Given the description of an element on the screen output the (x, y) to click on. 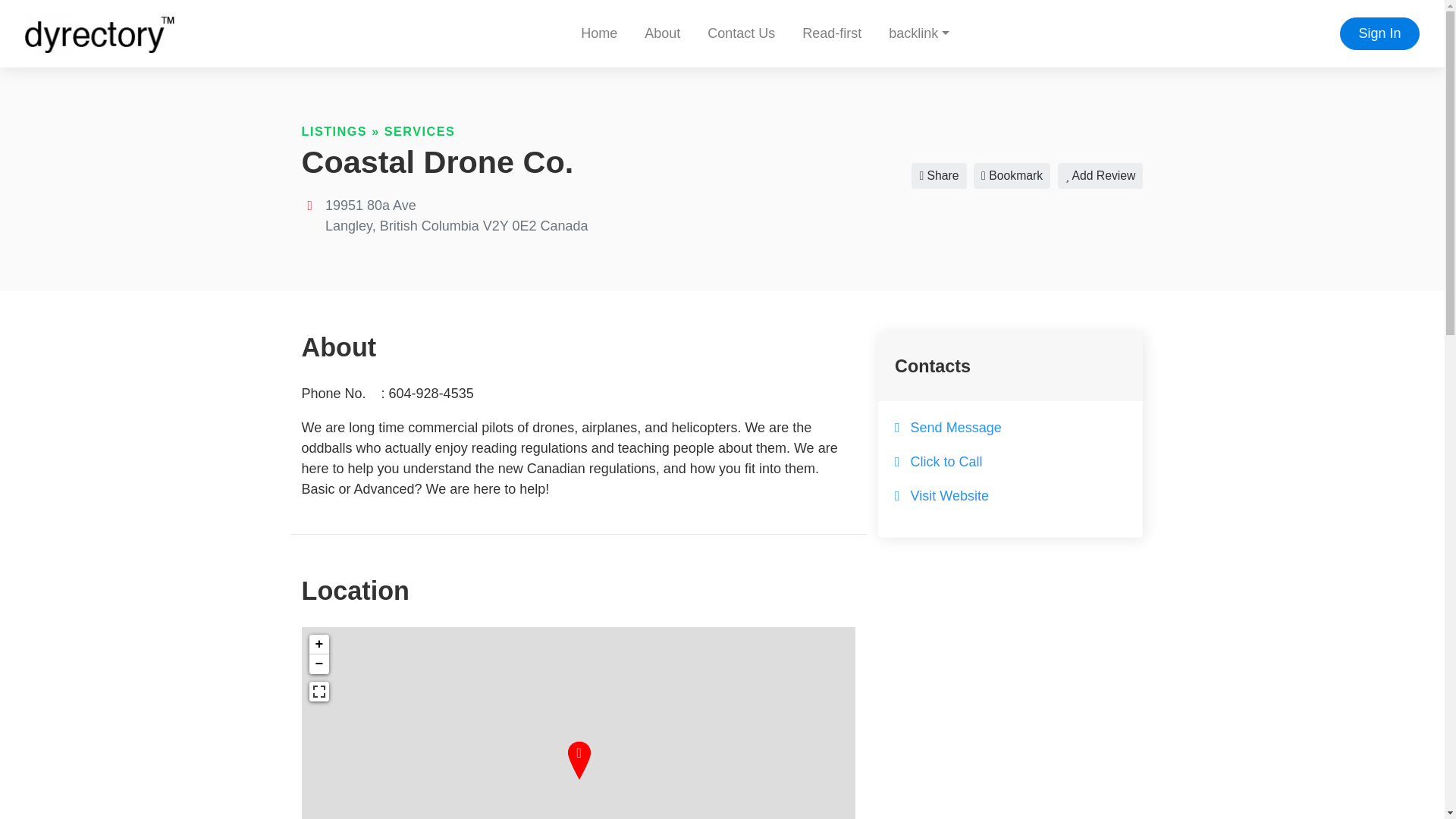
Sign In (1379, 33)
Read-first (832, 33)
About (662, 33)
Bookmark (1011, 175)
View Fullscreen (318, 691)
backlink (918, 33)
Contact Us (741, 33)
Zoom in (318, 644)
Zoom out (318, 664)
Add Review (1100, 175)
LISTINGS (334, 131)
Home (598, 33)
SERVICES (419, 131)
Send Message (956, 427)
Visit Website (949, 495)
